Given the description of an element on the screen output the (x, y) to click on. 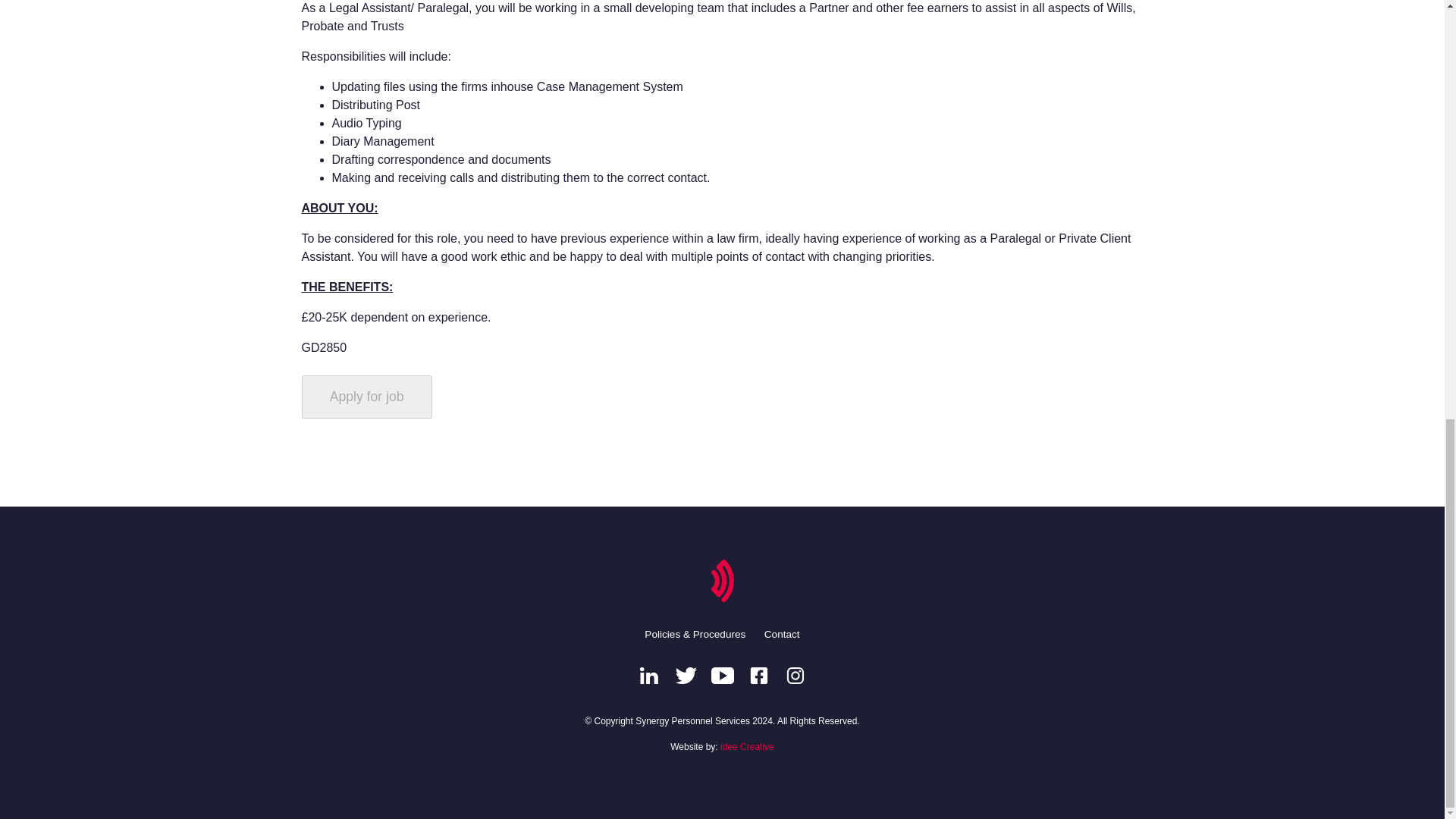
Apply for job (366, 396)
idee Creative (747, 747)
Contact (781, 633)
